Given the description of an element on the screen output the (x, y) to click on. 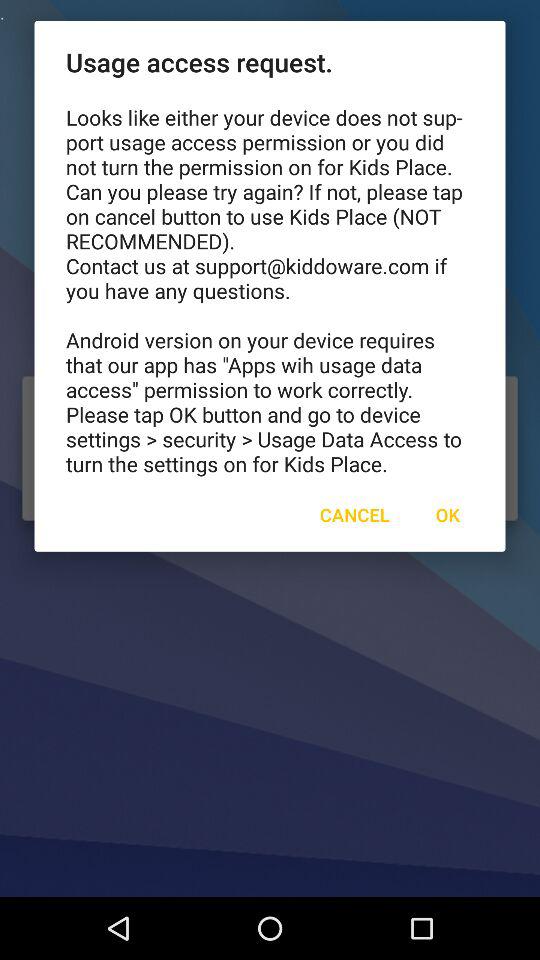
choose icon at the center (354, 514)
